Given the description of an element on the screen output the (x, y) to click on. 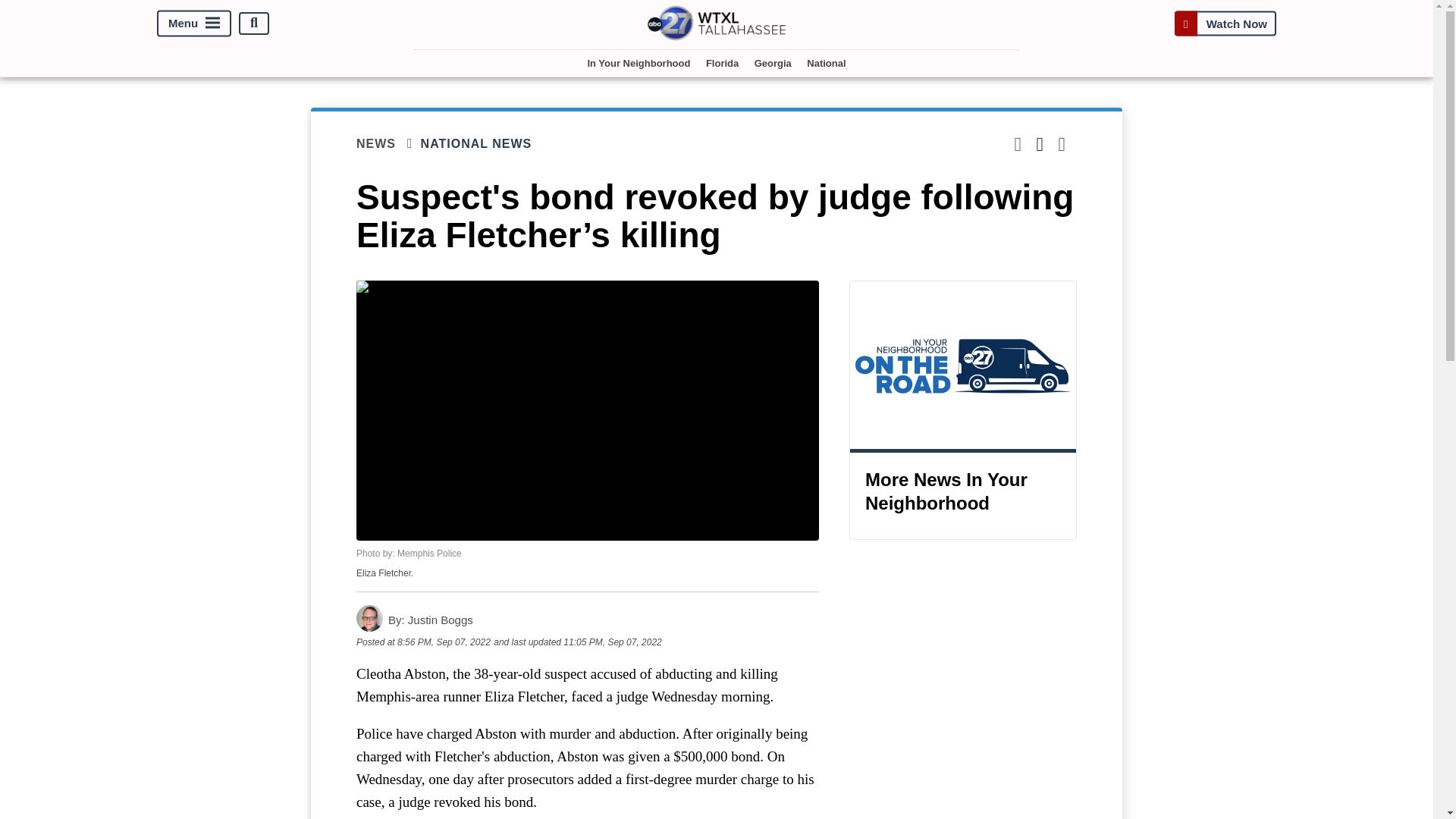
Menu (194, 22)
Watch Now (1224, 22)
